Given the description of an element on the screen output the (x, y) to click on. 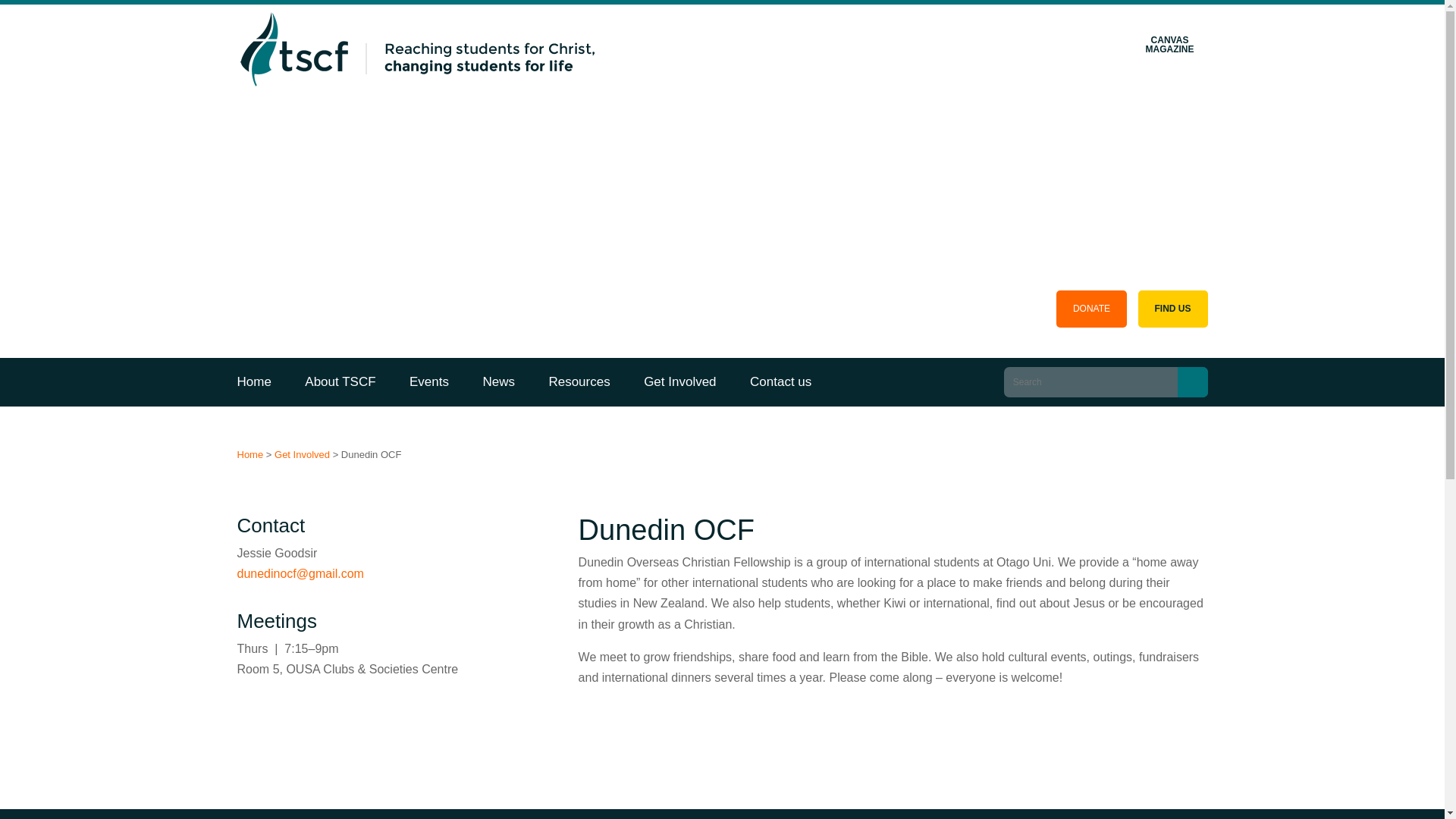
Contact us (781, 381)
FIND US (1172, 308)
Follow on Facebook (255, 717)
Go to TSCF. (249, 454)
Resources (578, 381)
Get Involved (679, 381)
Events (429, 381)
News (498, 381)
Go to Get Involved. (302, 454)
Home (260, 381)
About TSCF (339, 381)
Email Dunedin Overseas Christian Fellowhip (298, 573)
CANVAS MAGAZINE (1169, 45)
Go (1191, 381)
DONATE (1091, 308)
